Given the description of an element on the screen output the (x, y) to click on. 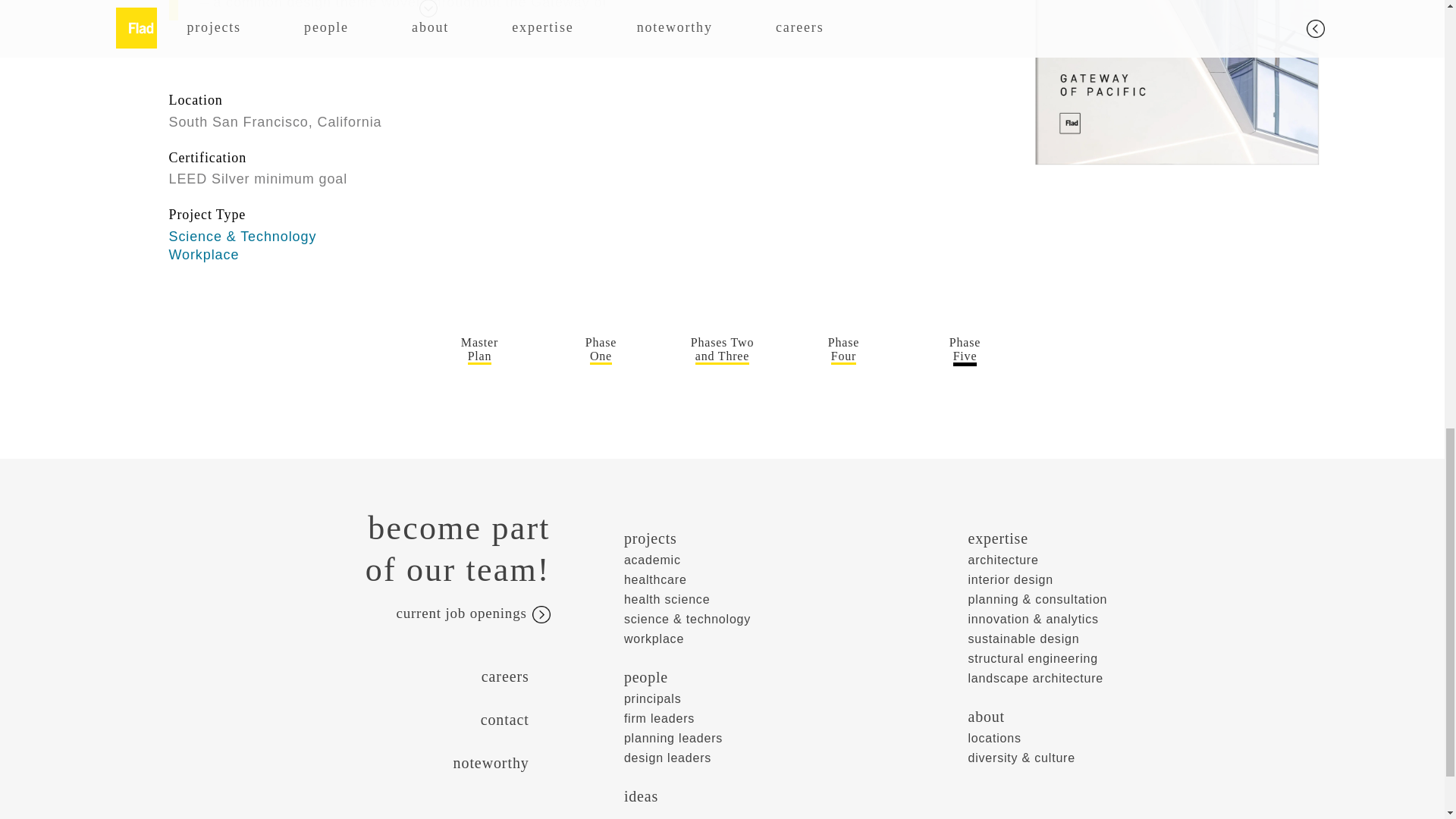
current job openings (722, 349)
Workplace (347, 614)
careers (203, 254)
noteworthy (600, 349)
contact (336, 676)
